Given the description of an element on the screen output the (x, y) to click on. 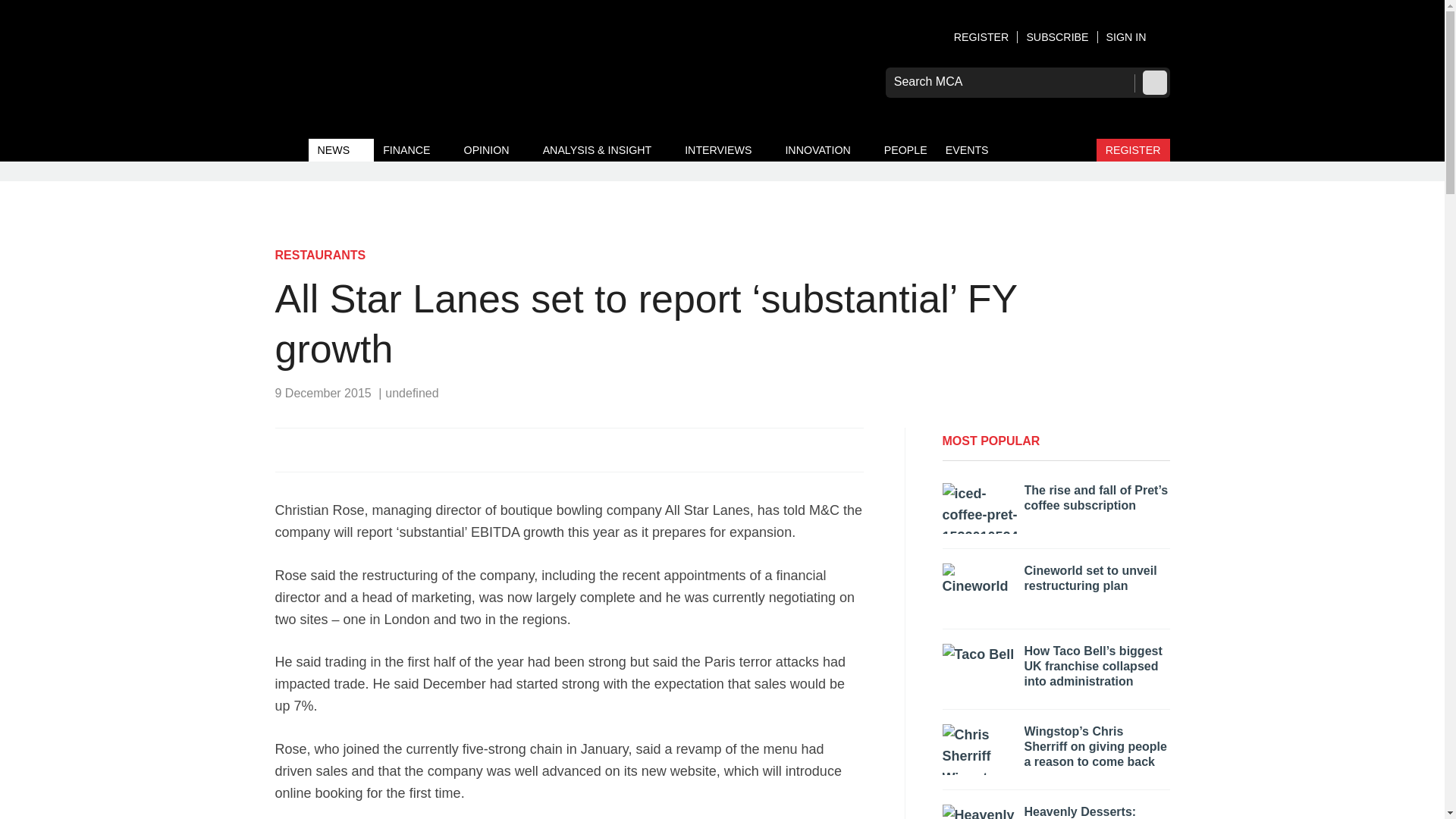
Email this article (386, 448)
SUBSCRIBE (1056, 37)
SIGN IN (1138, 37)
Share this on Twitter (320, 448)
Site name (426, 73)
Search (1153, 82)
Share this on Facebook (288, 448)
REGISTER (981, 37)
Share this on Linked in (352, 448)
